Given the description of an element on the screen output the (x, y) to click on. 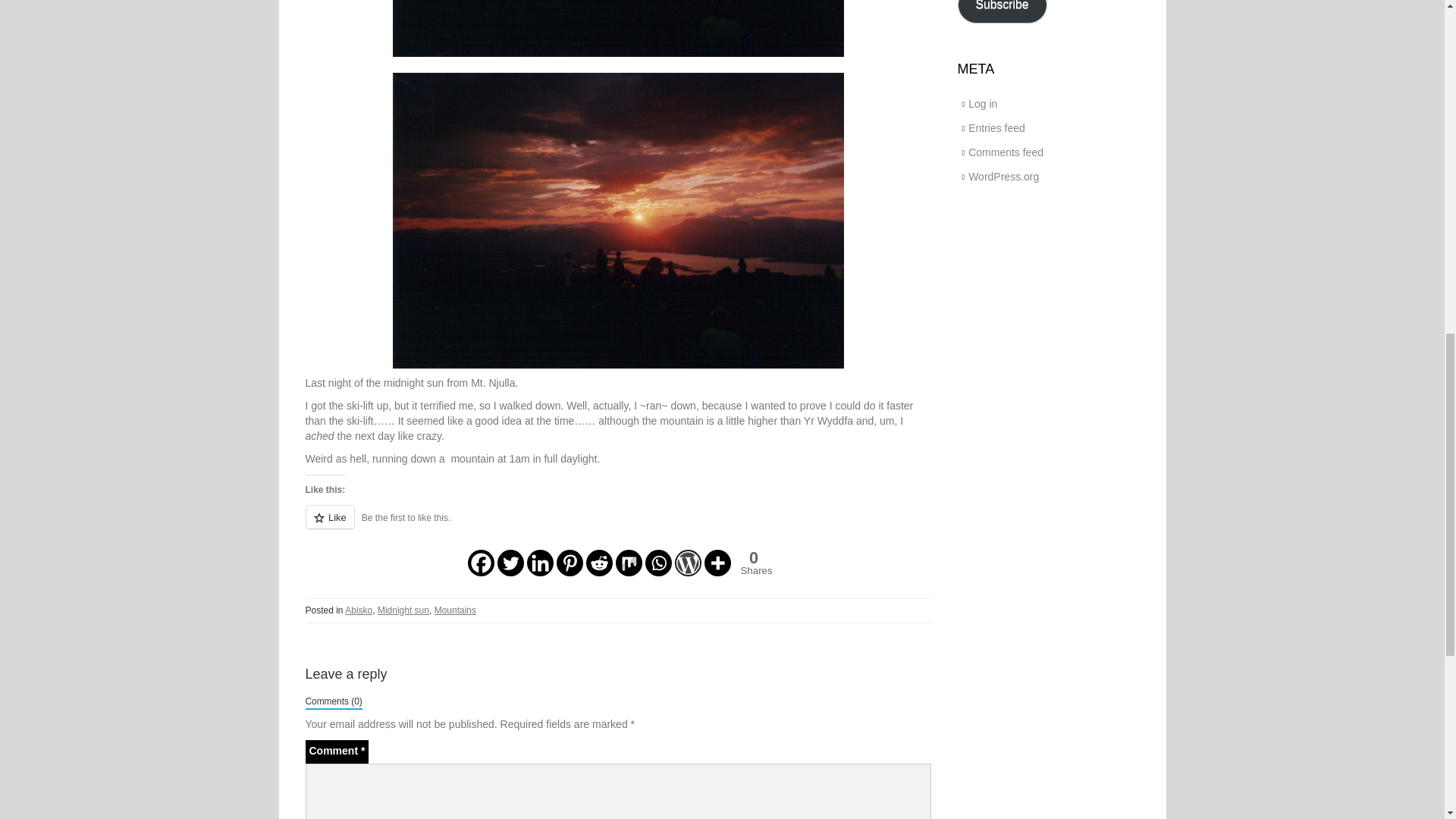
More (716, 562)
Reddit (750, 562)
Subscribe (598, 562)
Linkedin (1001, 11)
Facebook (539, 562)
Total Shares (480, 562)
Like or Reblog (753, 562)
Mix (617, 526)
WordPress (628, 562)
Mountains (688, 562)
Twitter (454, 610)
20aug10b (510, 562)
Pinterest (618, 220)
Abisko (569, 562)
